Given the description of an element on the screen output the (x, y) to click on. 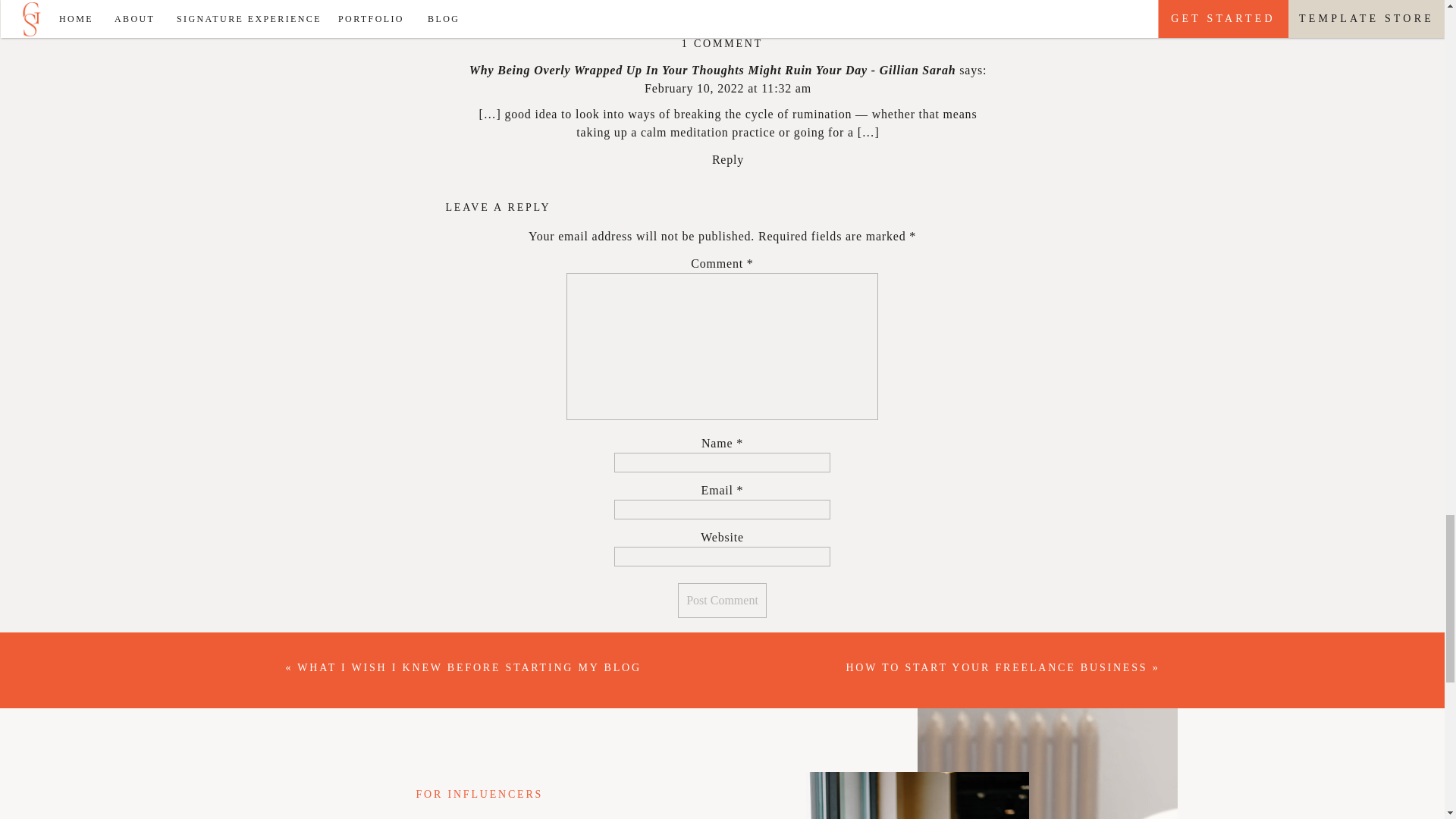
February 10, 2022 at 11:32 am (727, 88)
HOW TO START YOUR FREELANCE BUSINESS (996, 667)
WHAT I WISH I KNEW BEFORE STARTING MY BLOG (468, 667)
Post Comment (722, 600)
Post Comment (722, 600)
Reply (727, 159)
